Given the description of an element on the screen output the (x, y) to click on. 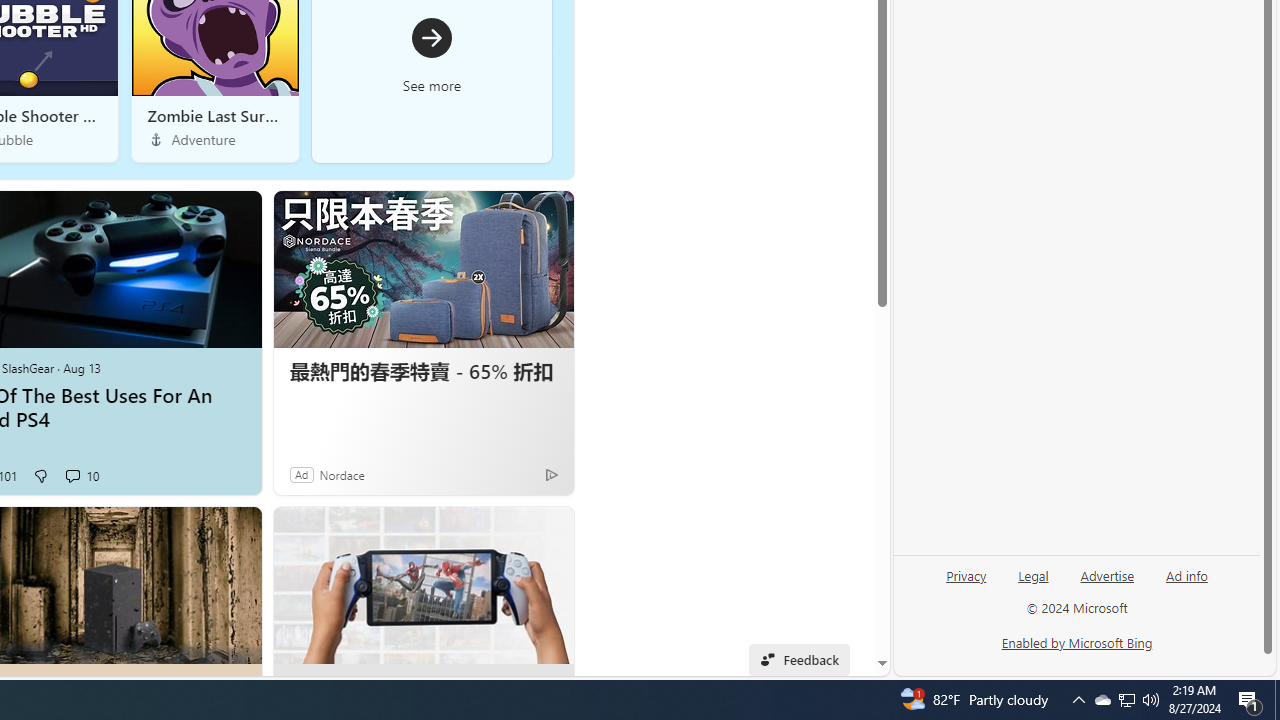
View comments 10 Comment (72, 475)
